Given the description of an element on the screen output the (x, y) to click on. 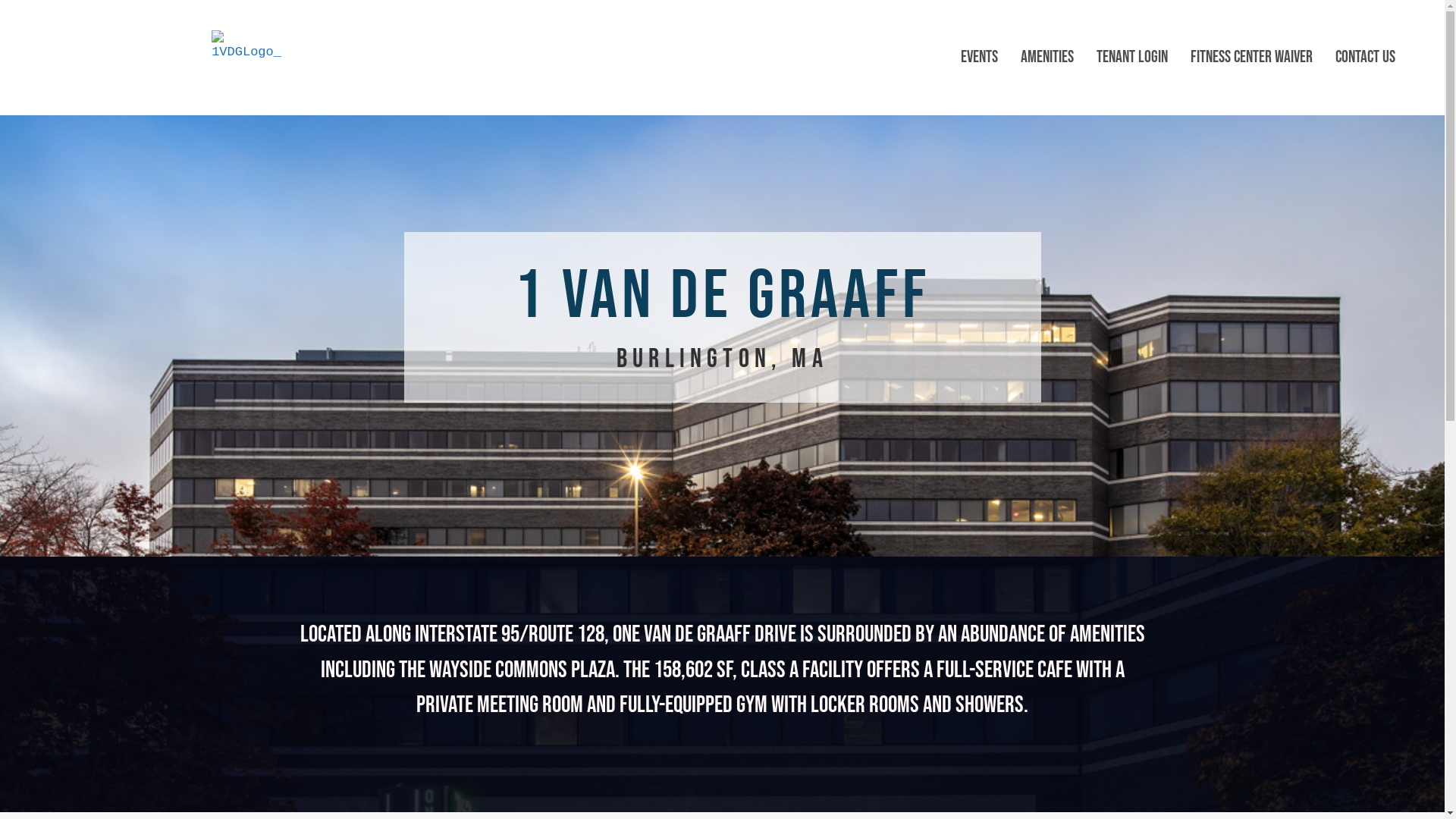
Fitness Center Waiver Element type: text (1251, 57)
Amenities Element type: text (1047, 57)
Events Element type: text (979, 57)
Contact Us Element type: text (1365, 57)
Tenant Login Element type: text (1132, 57)
